Given the description of an element on the screen output the (x, y) to click on. 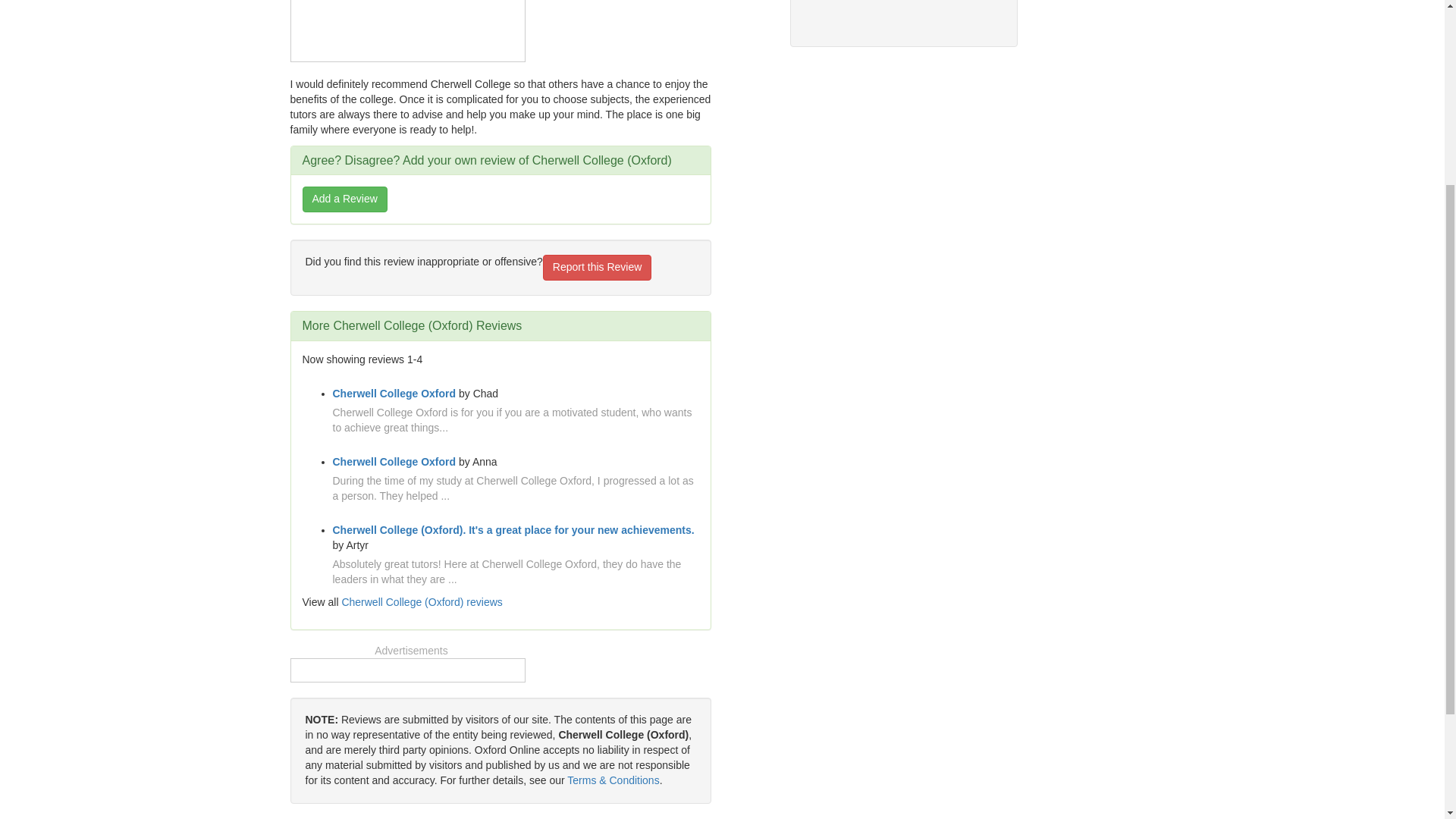
Report this Review (597, 267)
Cherwell College Oxford (393, 461)
Add a Review (344, 199)
Advertisement (407, 26)
Cherwell College Oxford (393, 393)
